Given the description of an element on the screen output the (x, y) to click on. 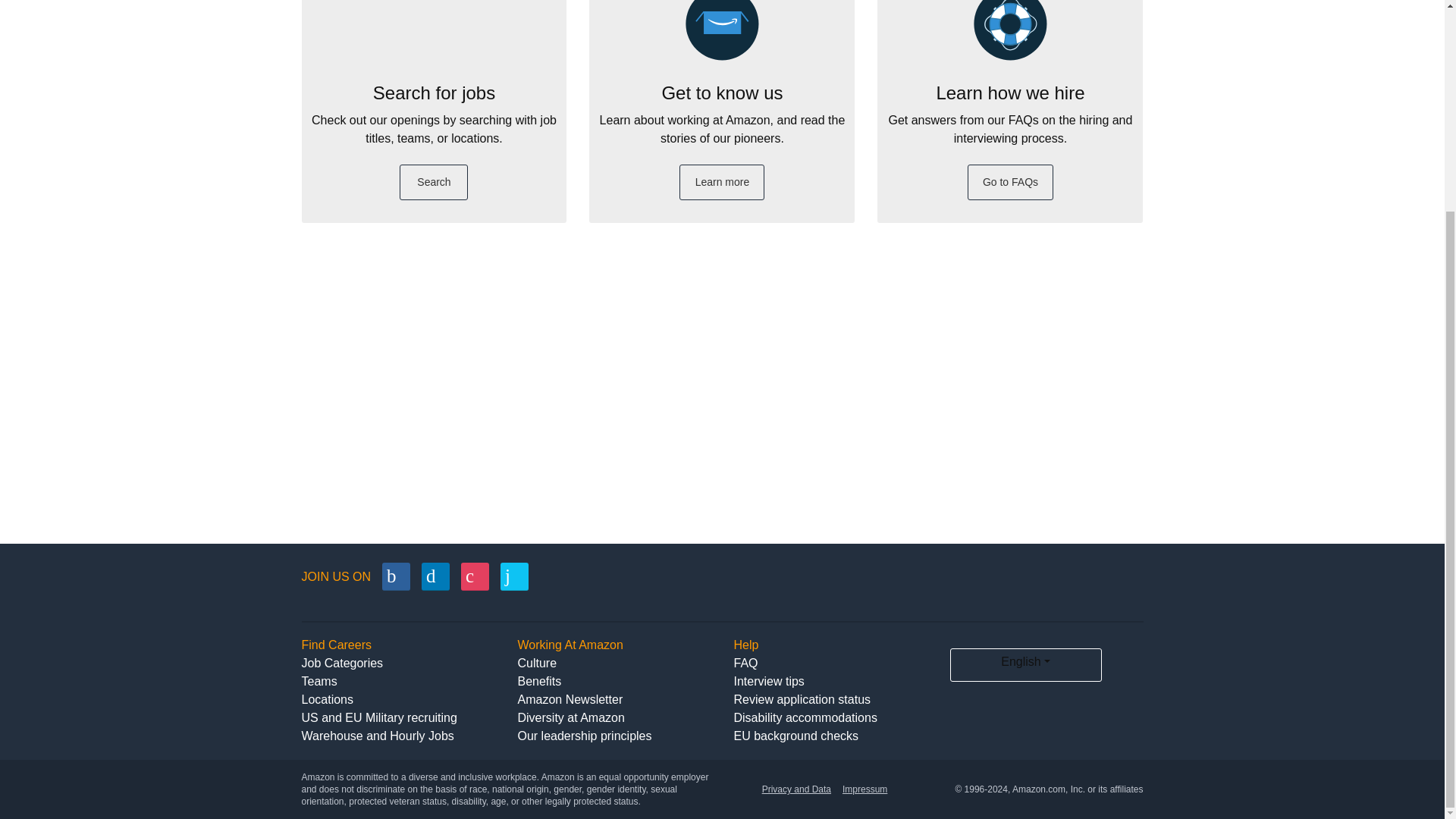
Teams (319, 680)
Search (432, 181)
Culture (536, 662)
Job Categories (342, 662)
Learn more (721, 181)
Go to FAQs (1011, 181)
Locations (327, 698)
US and EU Military recruiting (379, 717)
Warehouse and Hourly Jobs (377, 735)
